Given the description of an element on the screen output the (x, y) to click on. 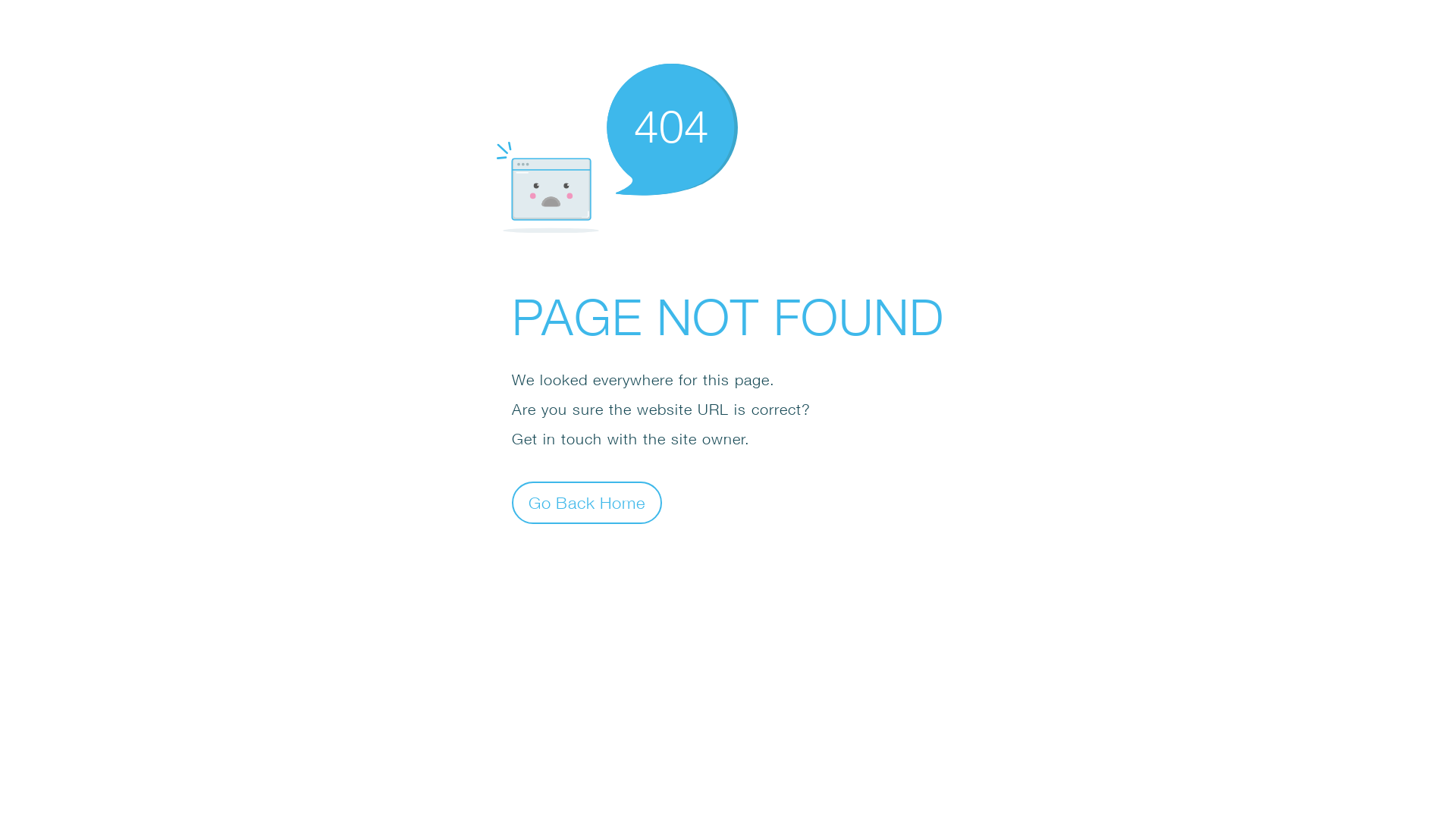
Go Back Home Element type: text (586, 502)
